Given the description of an element on the screen output the (x, y) to click on. 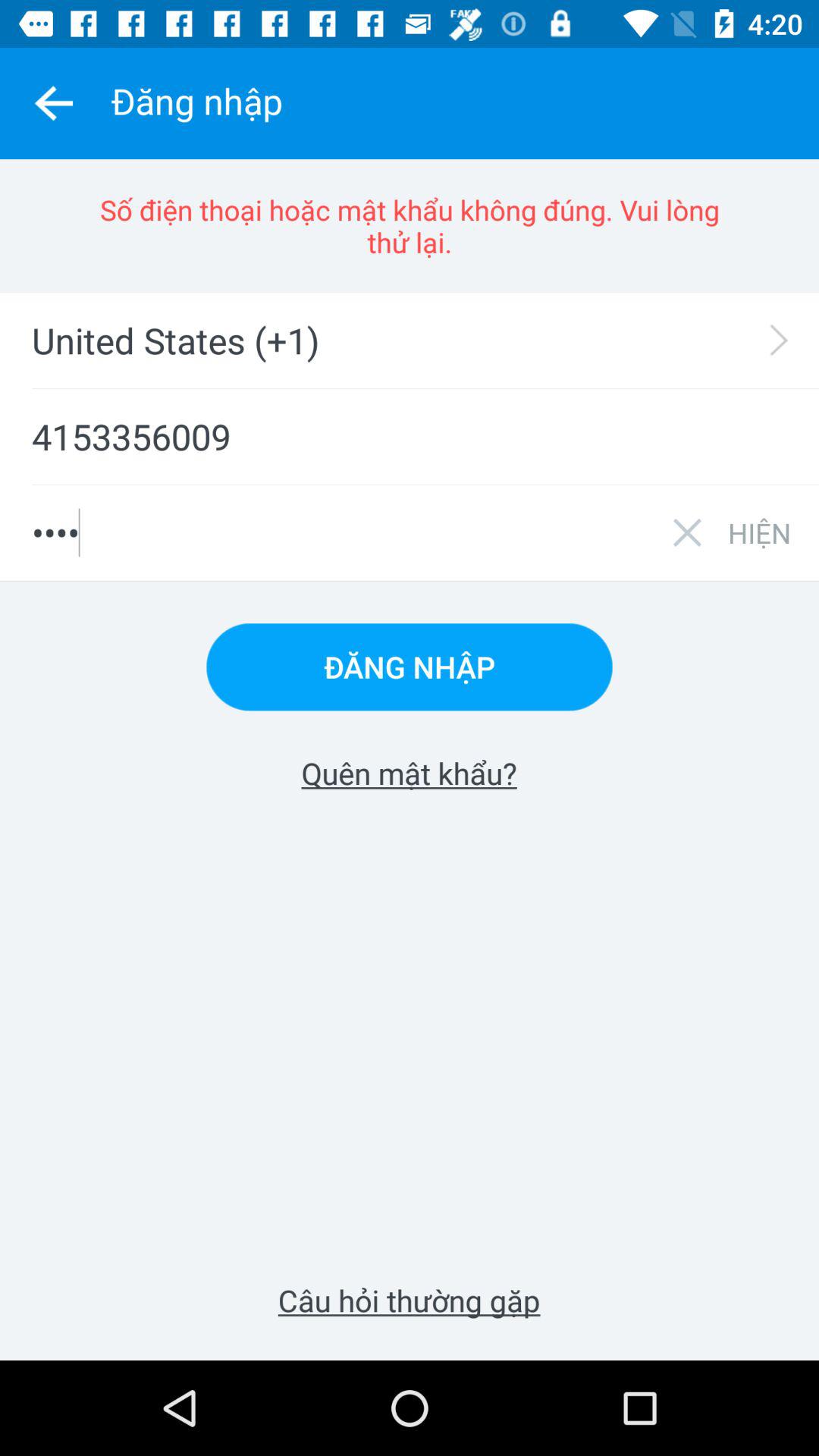
press 4153356009 icon (409, 436)
